Given the description of an element on the screen output the (x, y) to click on. 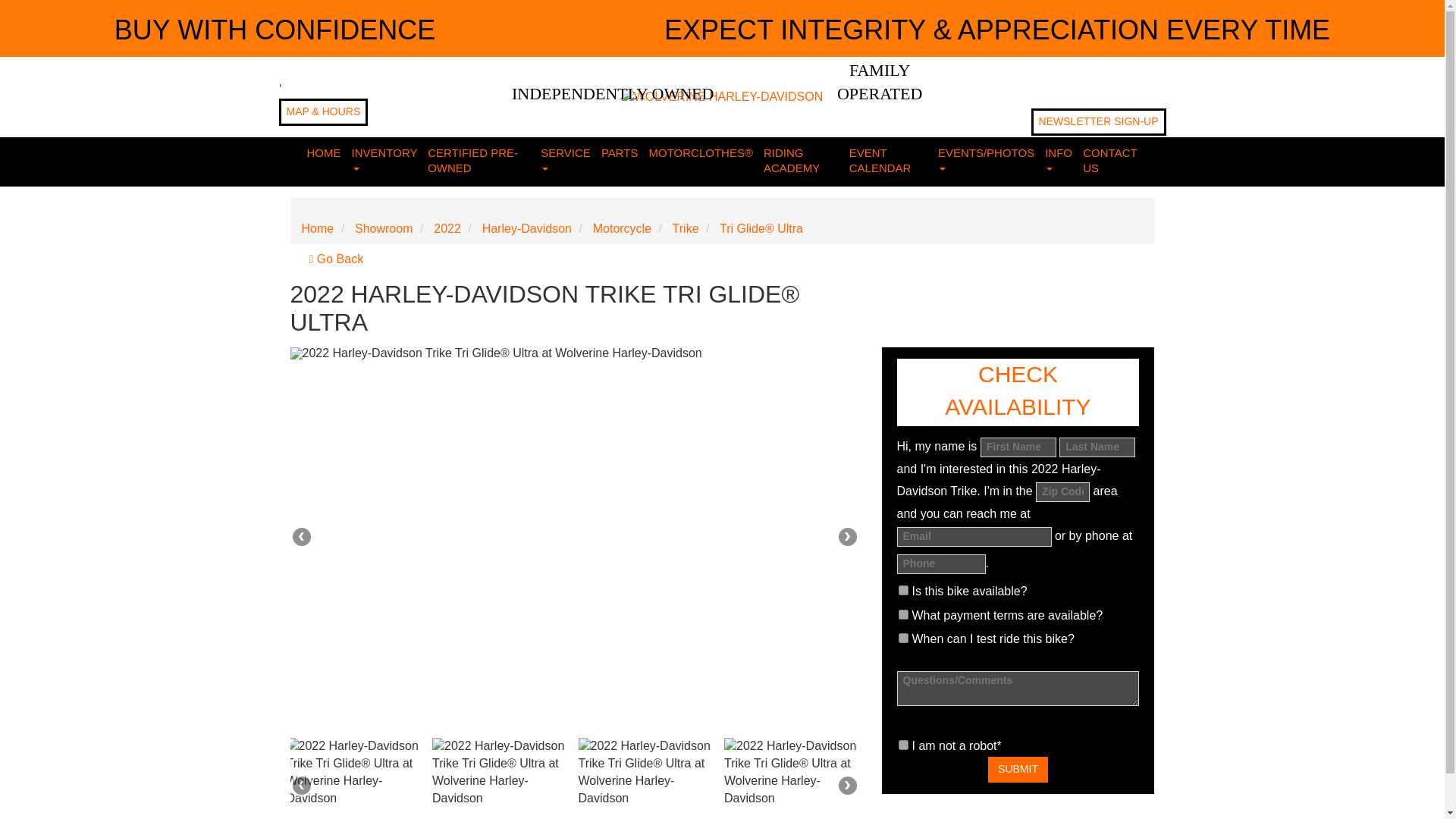
NEWSLETTER SIGN-UP (1098, 121)
true (902, 637)
Service (565, 161)
PARTS (619, 154)
EVENT CALENDAR (888, 161)
true (902, 590)
true (902, 614)
CERTIFIED PRE-OWNED (478, 161)
Inventory (384, 161)
INVENTORY (384, 161)
